Given the description of an element on the screen output the (x, y) to click on. 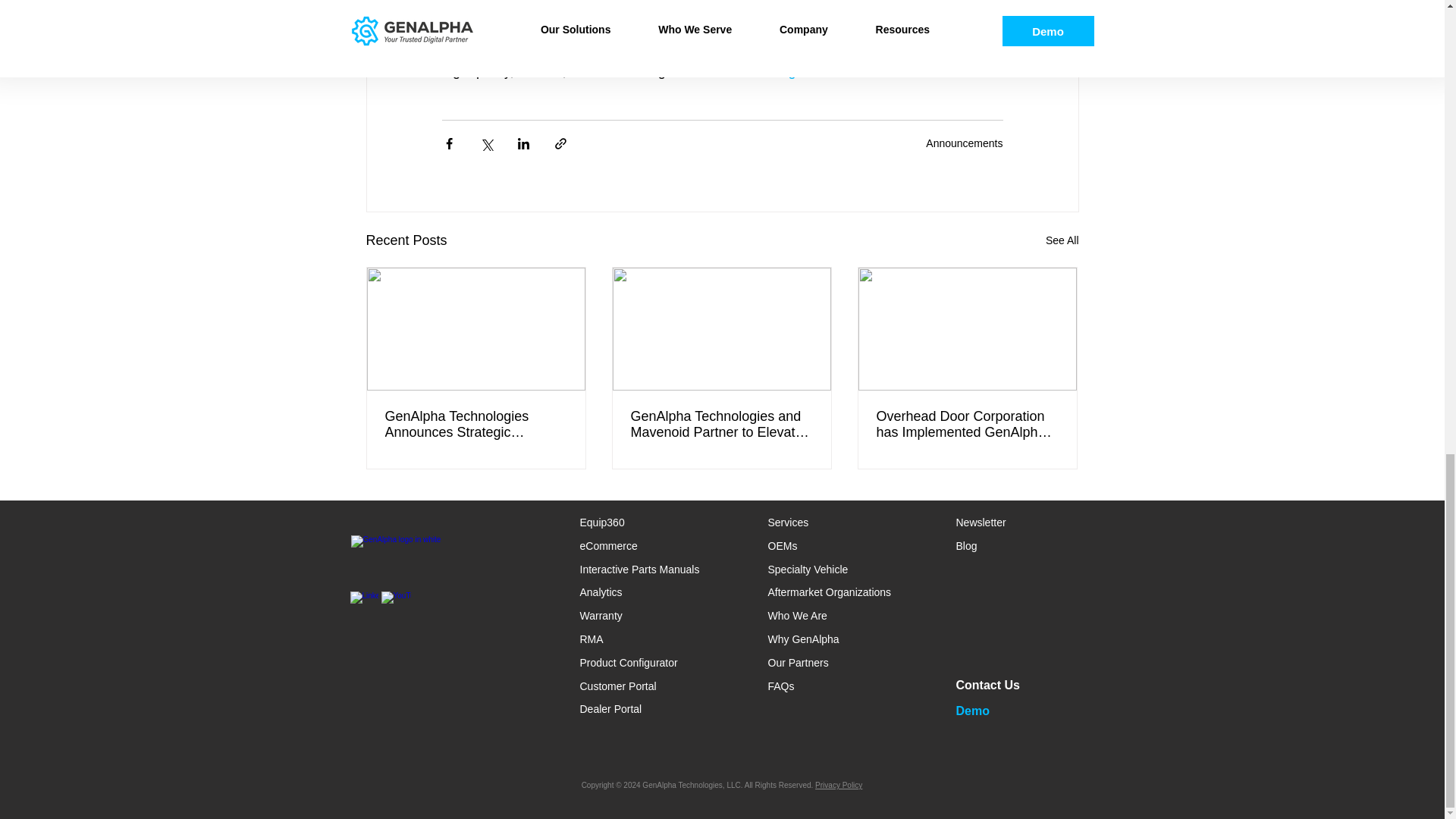
www.terralinguatranslations.com (811, 70)
